Given the description of an element on the screen output the (x, y) to click on. 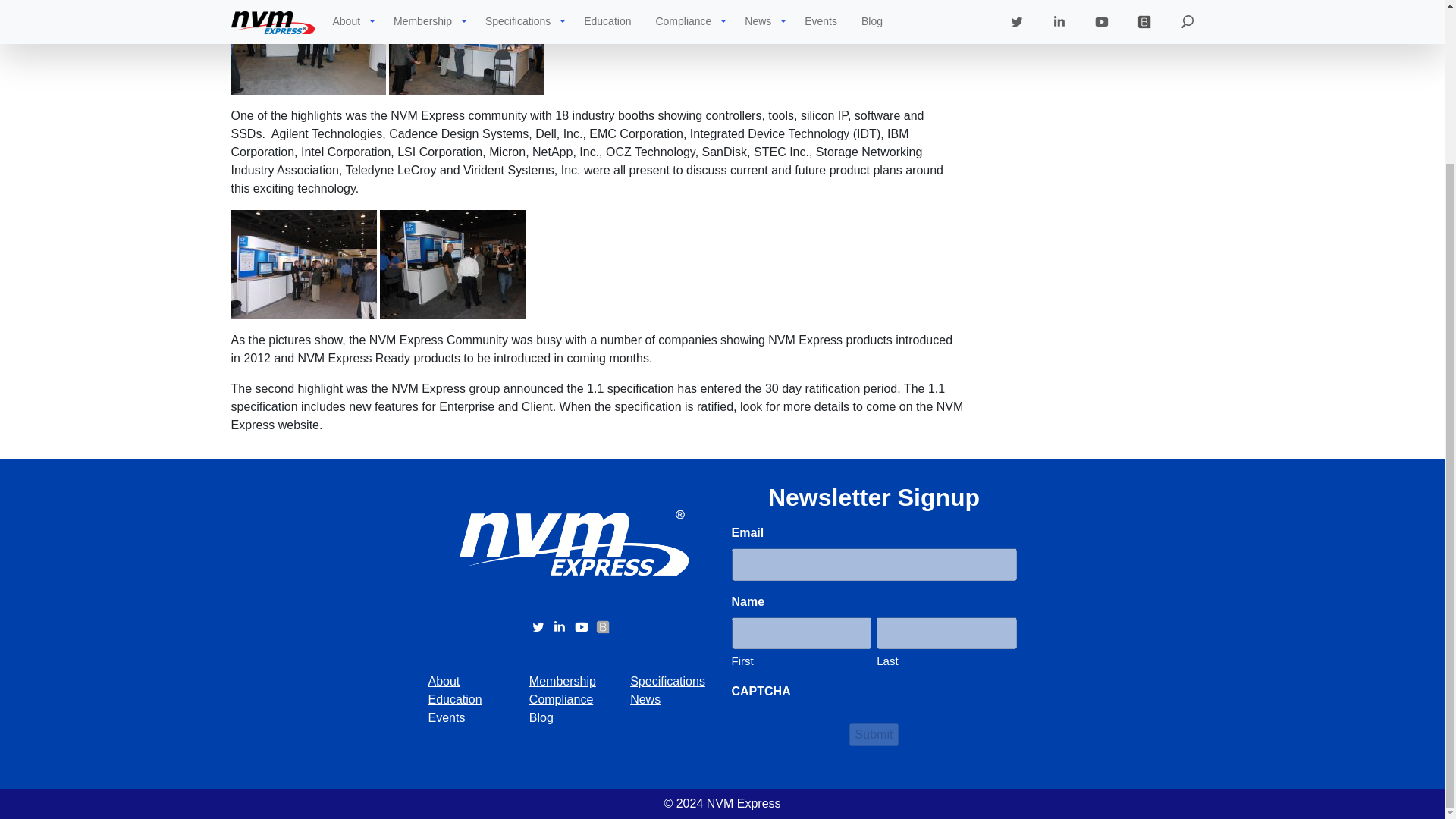
Submit (873, 734)
YouTube (583, 625)
BrightTalk (602, 625)
Twitter (539, 625)
LinkedIn (561, 625)
